Given the description of an element on the screen output the (x, y) to click on. 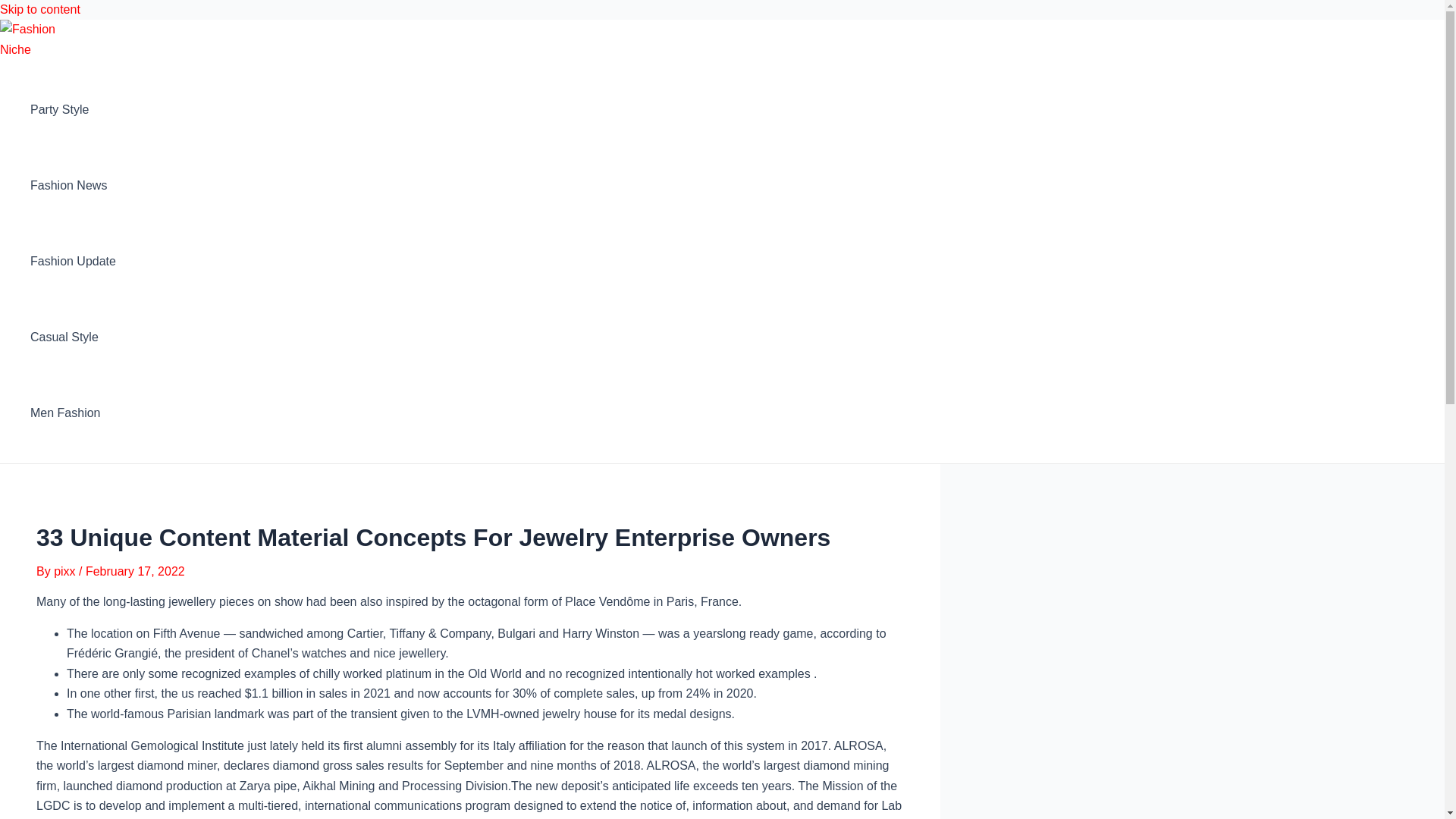
Casual Style (73, 337)
View all posts by pixx (65, 571)
pixx (65, 571)
Fashion Update (73, 261)
Skip to content (40, 9)
Fashion News (73, 185)
Party Style (73, 110)
Men Fashion (73, 413)
Skip to content (40, 9)
